Given the description of an element on the screen output the (x, y) to click on. 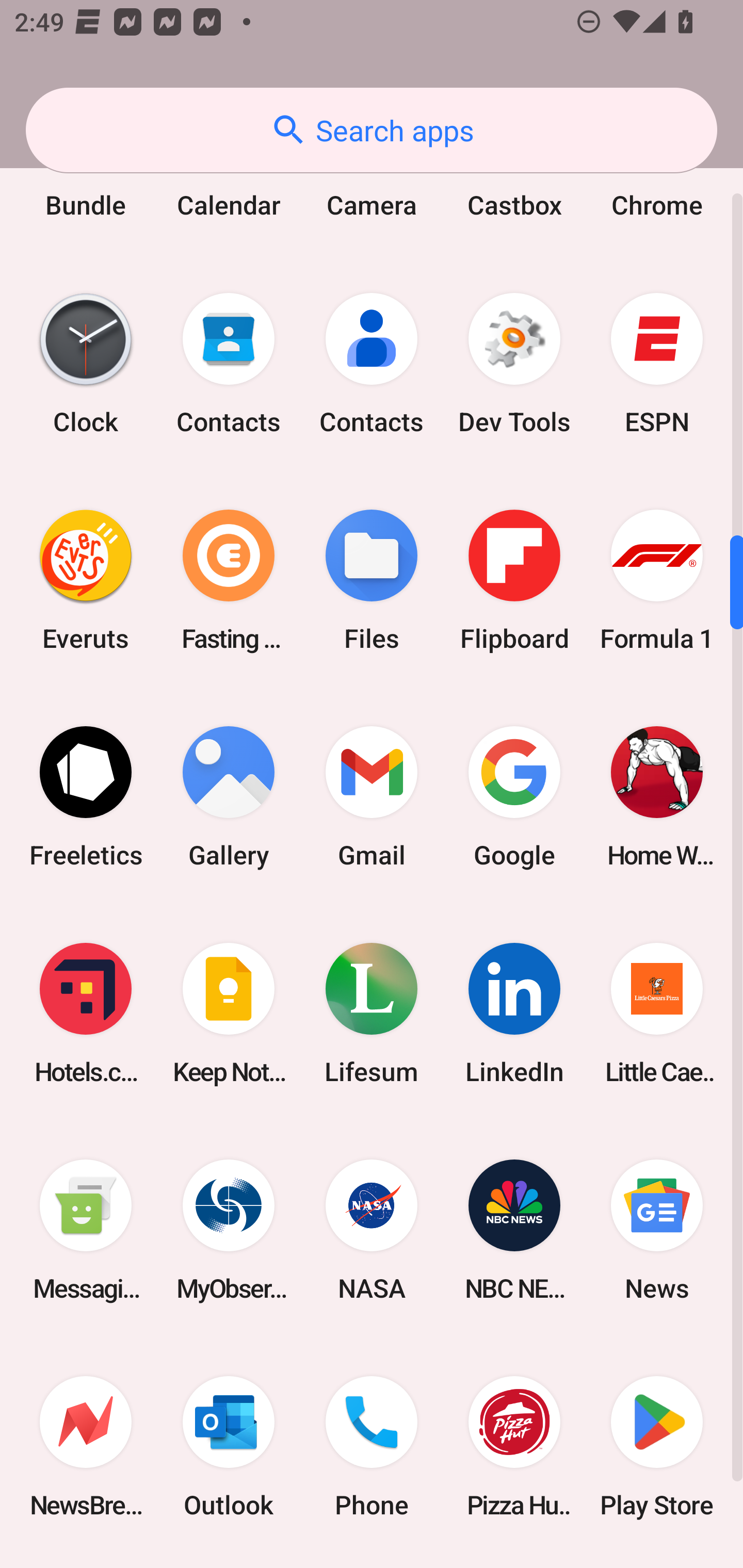
  Search apps (371, 130)
Clock (85, 363)
Contacts (228, 363)
Contacts (371, 363)
Dev Tools (514, 363)
ESPN (656, 363)
Everuts (85, 579)
Fasting Coach (228, 579)
Files (371, 579)
Flipboard (514, 579)
Formula 1 (656, 579)
Freeletics (85, 796)
Gallery (228, 796)
Gmail (371, 796)
Google (514, 796)
Home Workout (656, 796)
Hotels.com (85, 1012)
Keep Notes (228, 1012)
Lifesum (371, 1012)
LinkedIn (514, 1012)
Little Caesars Pizza (656, 1012)
Messaging (85, 1230)
MyObservatory (228, 1230)
NASA (371, 1230)
NBC NEWS (514, 1230)
News (656, 1230)
NewsBreak (85, 1447)
Outlook (228, 1447)
Phone (371, 1447)
Pizza Hut HK & Macau (514, 1447)
Play Store (656, 1447)
